Given the description of an element on the screen output the (x, y) to click on. 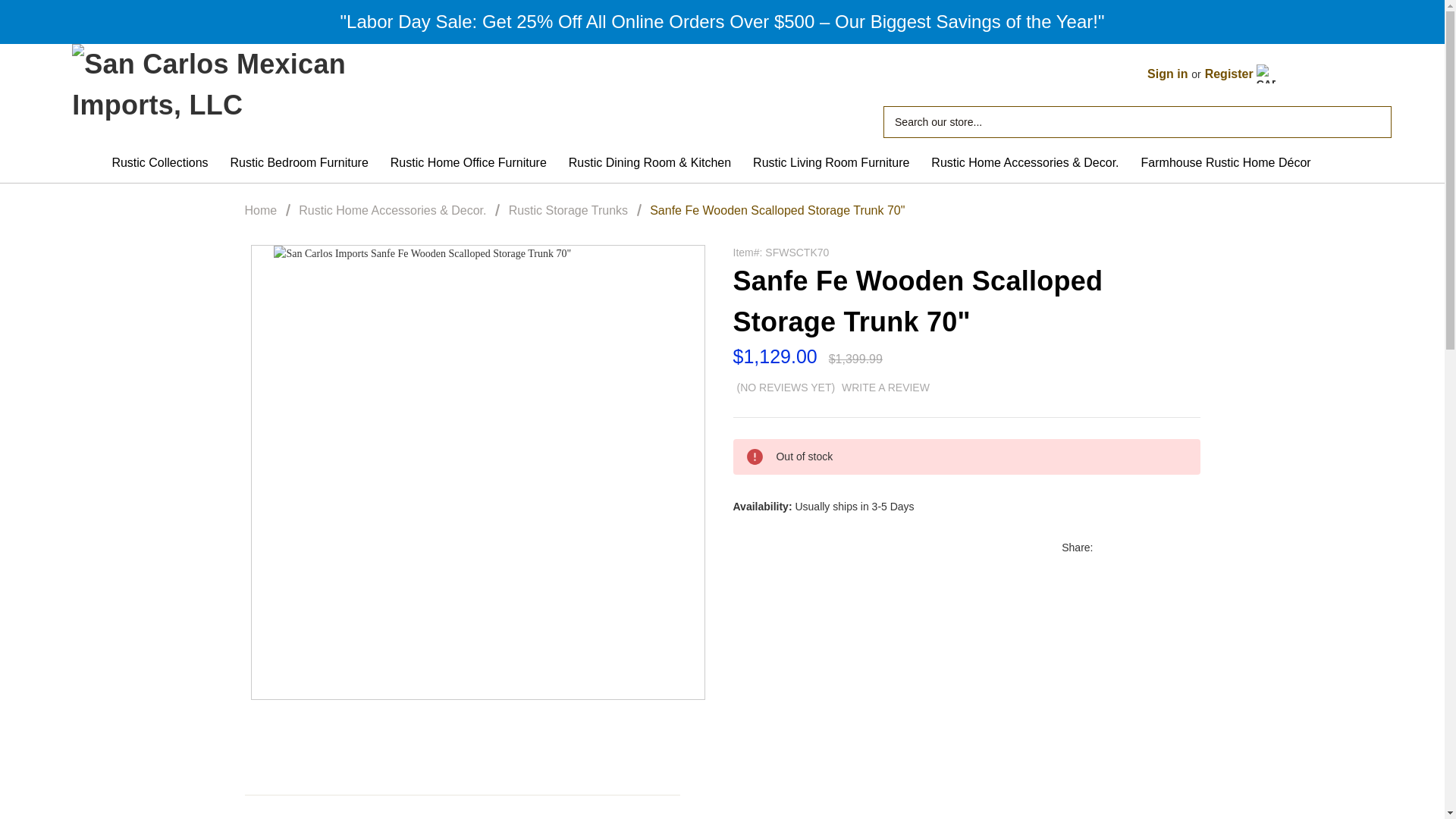
Sign in (1171, 74)
Pinterest (1182, 547)
Register (1229, 74)
Email (1133, 547)
Facebook (1109, 547)
Print (1158, 547)
Rustic Collections (167, 162)
San Carlos Mexican Imports, LLC (252, 93)
